Given the description of an element on the screen output the (x, y) to click on. 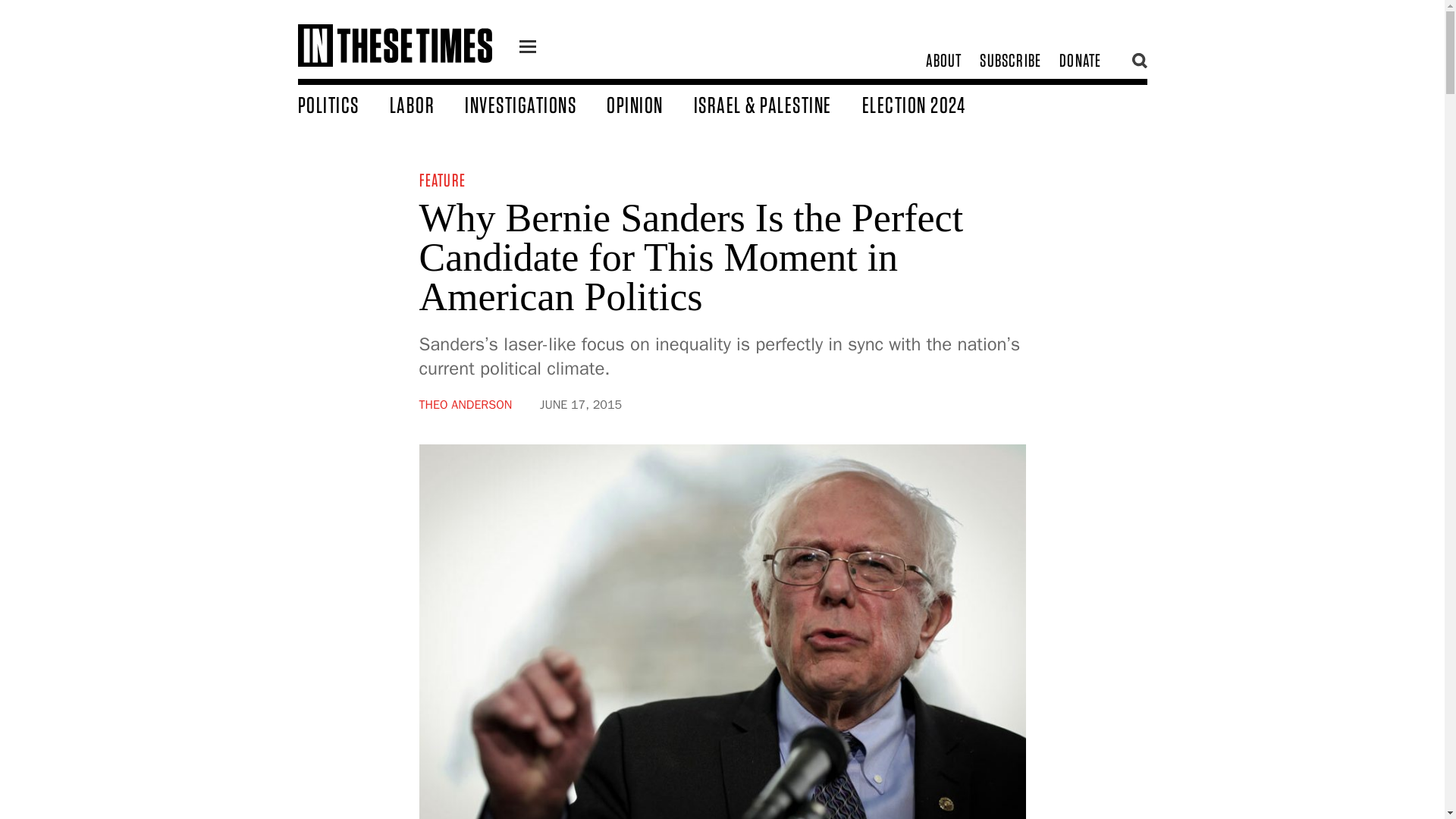
FEATURE (441, 179)
INVESTIGATIONS (535, 103)
ELECTION 2024 (928, 103)
POLITICS (342, 103)
ABOUT (944, 60)
SUBSCRIBE (1010, 60)
OPINION (650, 103)
THEO ANDERSON (465, 404)
LABOR (427, 103)
